Given the description of an element on the screen output the (x, y) to click on. 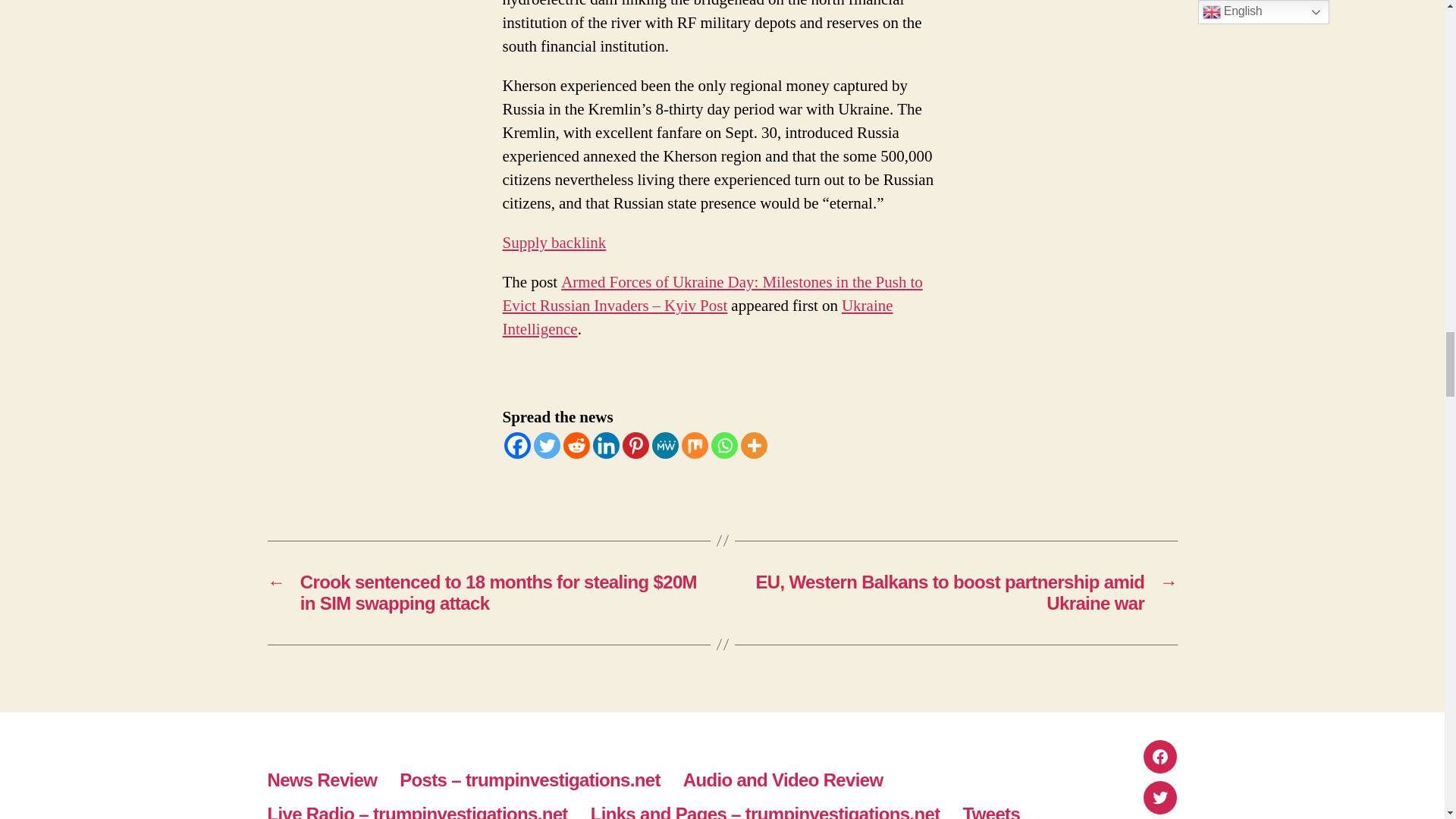
Twitter (547, 445)
Linkedin (606, 445)
Pinterest (634, 445)
Facebook (516, 445)
Reddit (575, 445)
